Given the description of an element on the screen output the (x, y) to click on. 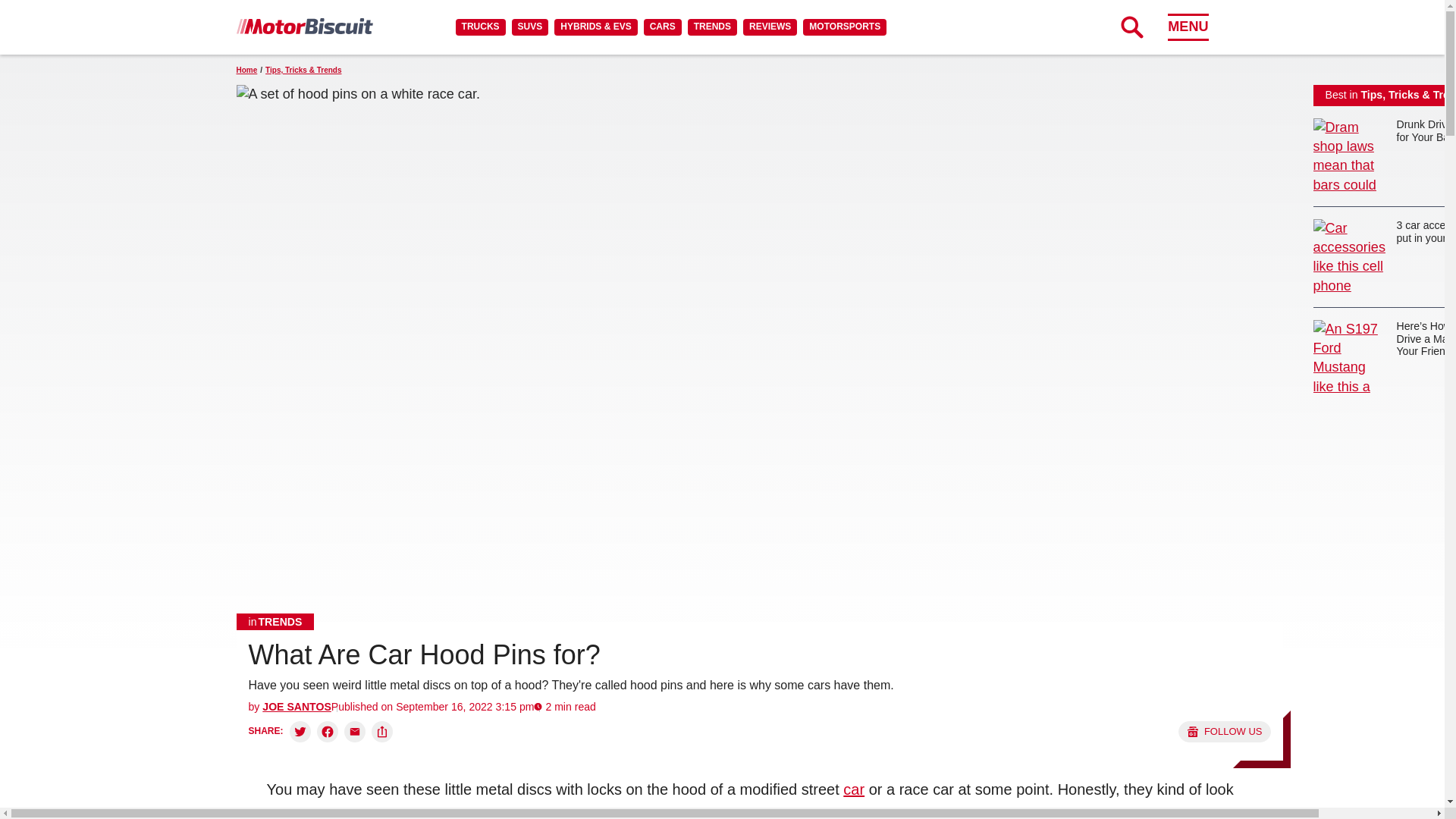
MotorBiscuit (303, 26)
Trends (274, 621)
REVIEWS (769, 26)
Expand Search (1131, 26)
CARS (662, 26)
MENU (1187, 26)
Copy link and share:  (382, 731)
TRENDS (711, 26)
Follow us on Google News (1224, 731)
SUVS (530, 26)
MOTORSPORTS (844, 26)
TRUCKS (480, 26)
